Given the description of an element on the screen output the (x, y) to click on. 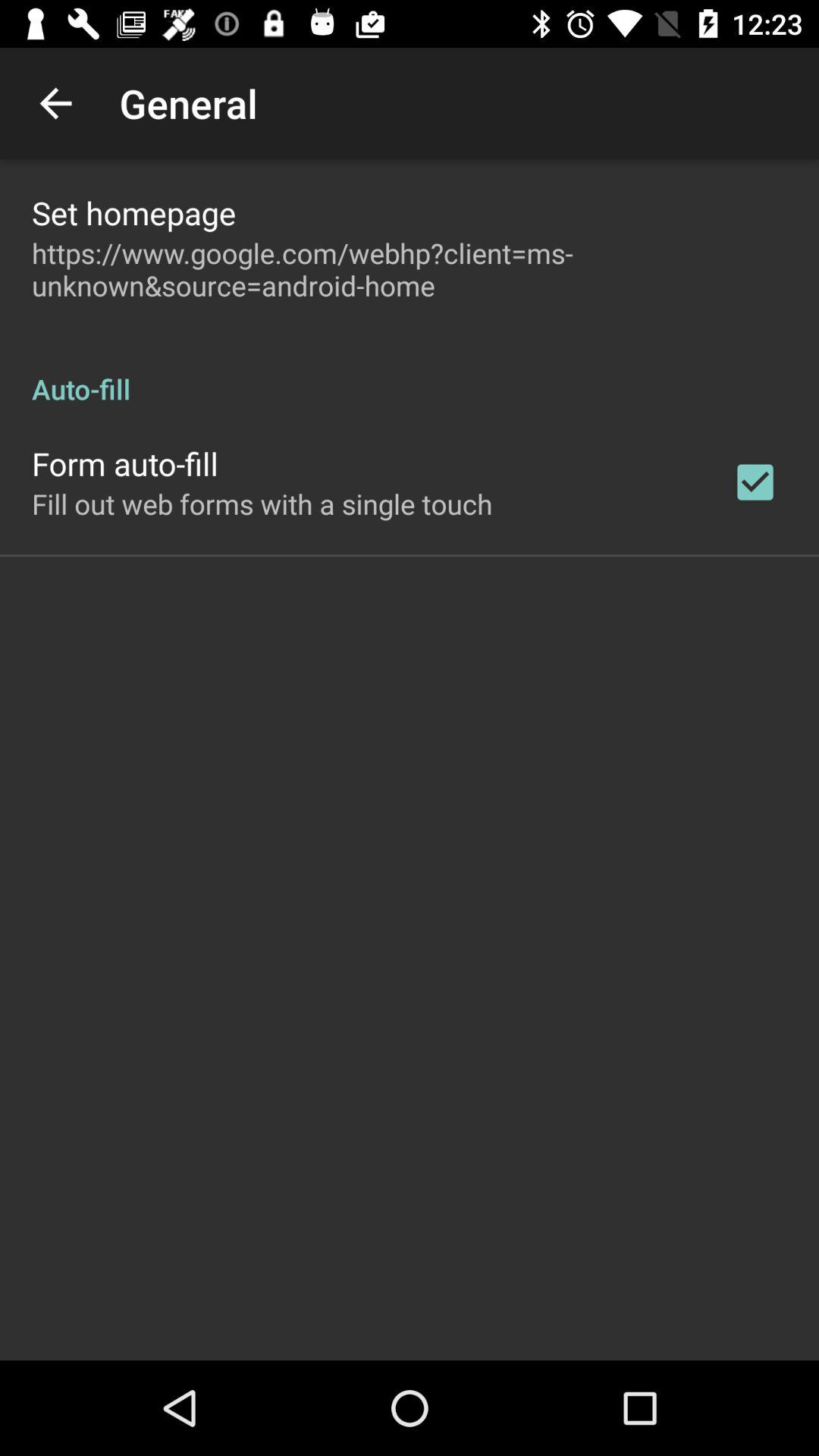
scroll to the set homepage icon (133, 212)
